Given the description of an element on the screen output the (x, y) to click on. 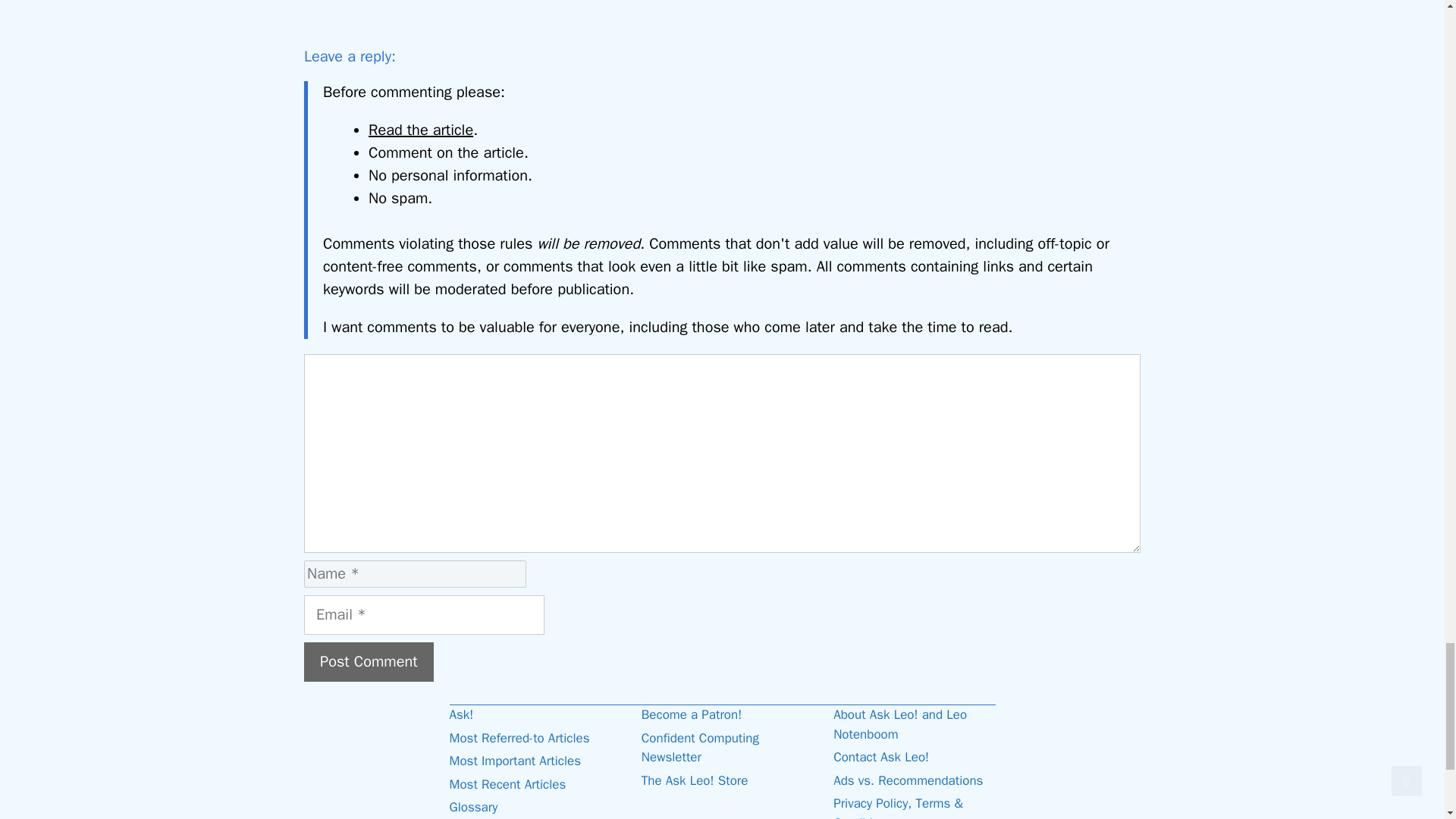
Post Comment (368, 661)
